Given the description of an element on the screen output the (x, y) to click on. 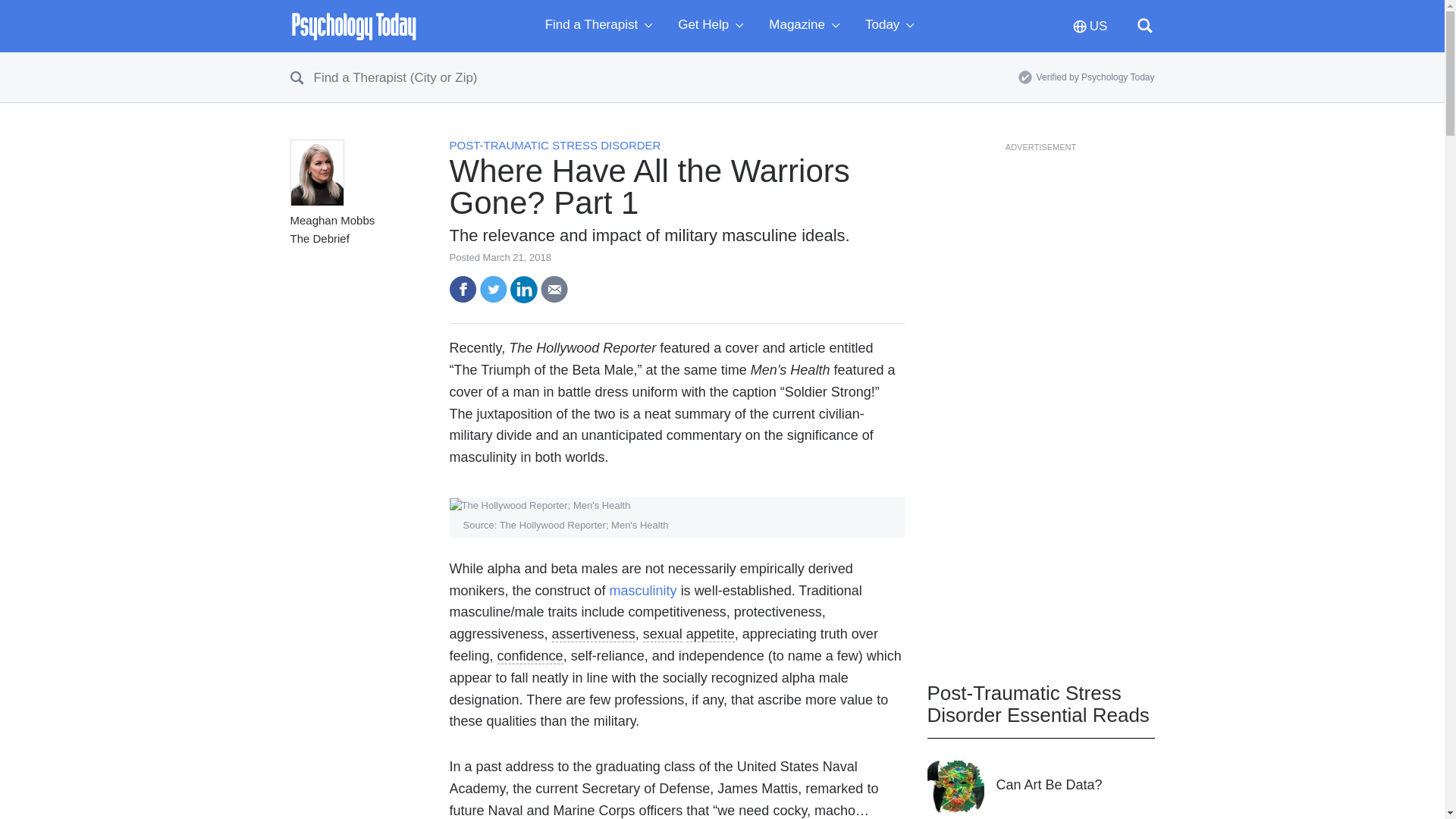
Find a Therapist (602, 25)
Psychology Today (352, 25)
Get Help (714, 25)
